Given the description of an element on the screen output the (x, y) to click on. 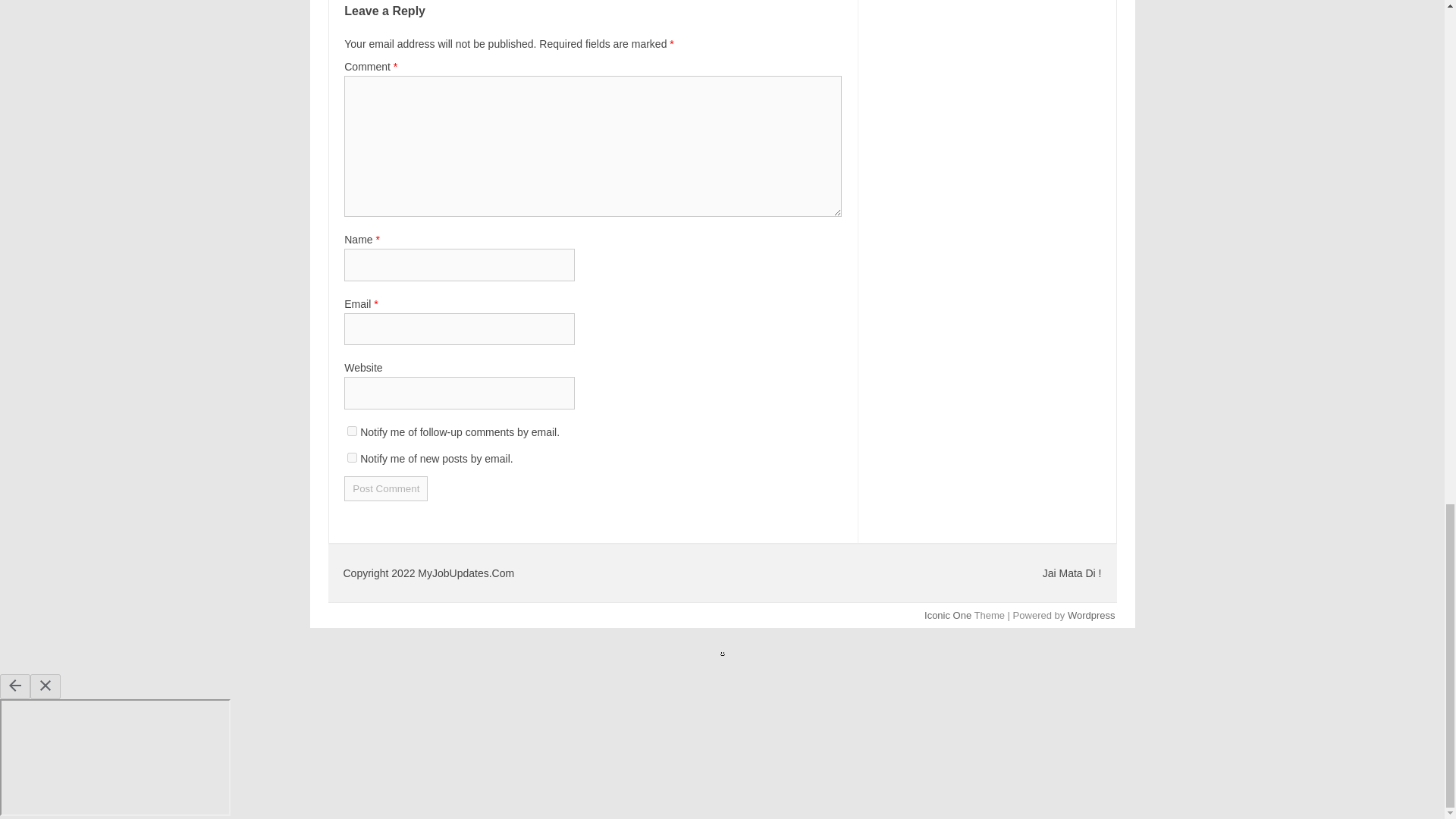
Post Comment (385, 488)
Iconic One (947, 614)
Post Comment (385, 488)
Wordpress (1091, 614)
subscribe (351, 430)
subscribe (351, 457)
